Given the description of an element on the screen output the (x, y) to click on. 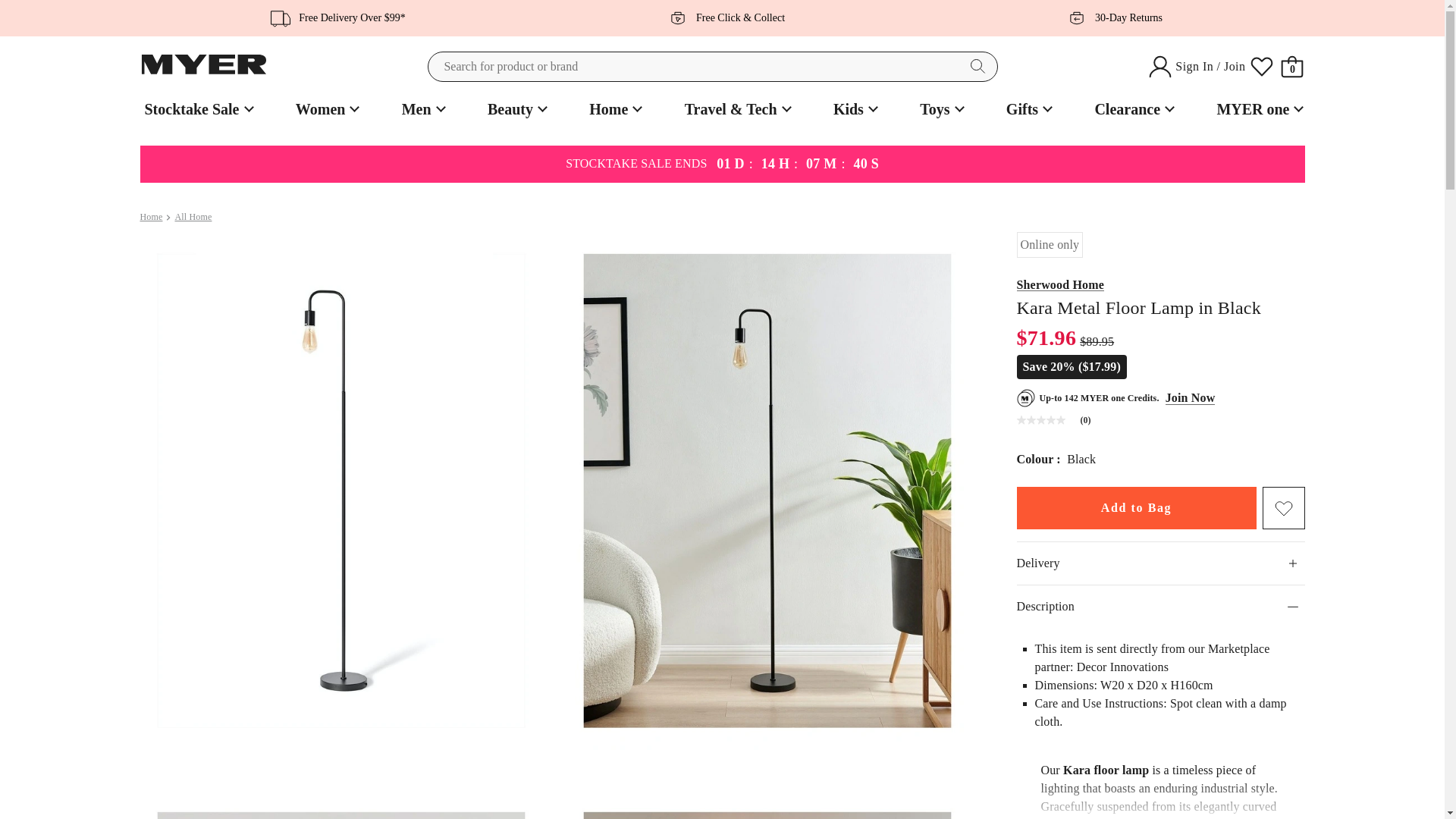
30-Day Returns (1110, 17)
0 (1291, 66)
Stocktake Sale (196, 109)
